Given the description of an element on the screen output the (x, y) to click on. 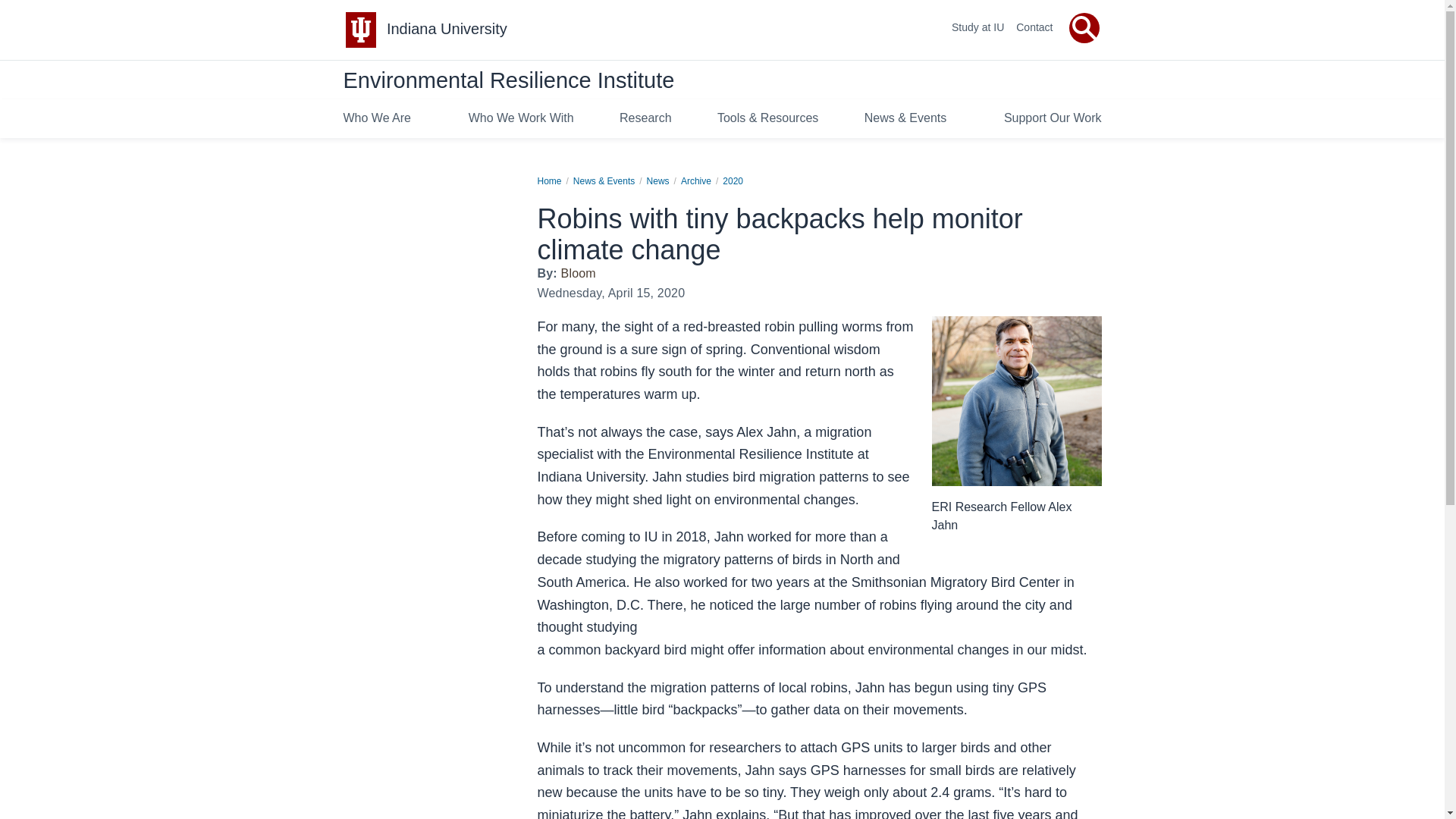
Indiana University (446, 28)
Indiana University (446, 28)
